Given the description of an element on the screen output the (x, y) to click on. 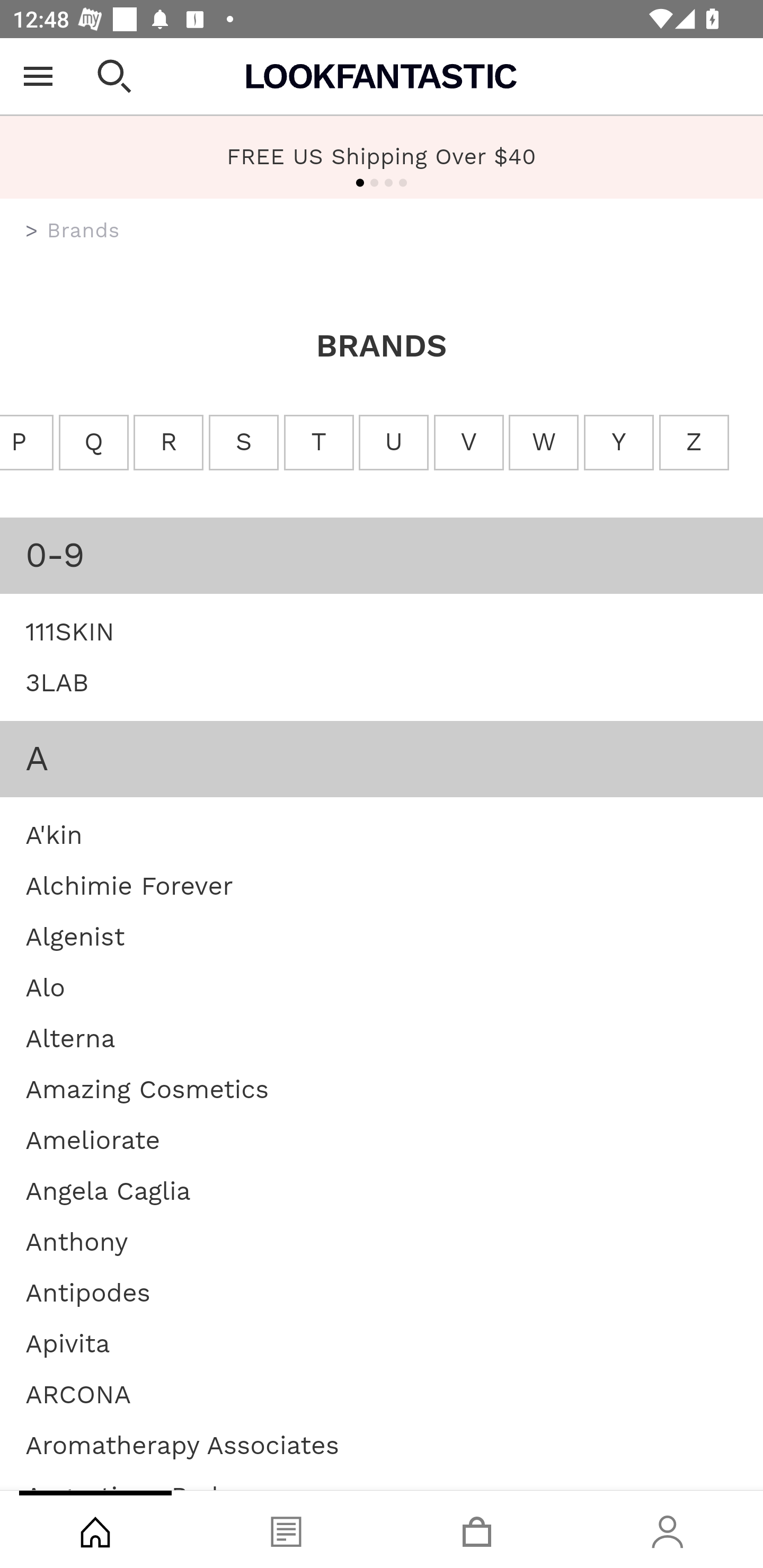
Open Menu (38, 75)
Open search (114, 75)
Lookfantastic USA (381, 75)
FREE US Shipping Over $40 (381, 157)
FREE US Shipping Over $40 (381, 155)
us.lookfantastic (32, 230)
P (27, 443)
Q (92, 443)
R (169, 443)
S (244, 443)
T (318, 443)
U (392, 443)
V (467, 443)
W (543, 443)
Y (618, 443)
Z (693, 443)
111SKIN (69, 630)
3LAB (57, 681)
A'kin (53, 833)
Alchimie Forever (129, 884)
Algenist (75, 935)
Alo (46, 986)
Alterna (70, 1037)
Amazing Cosmetics (147, 1087)
Ameliorate (92, 1139)
Angela Caglia (108, 1189)
Anthony (76, 1240)
Antipodes (88, 1291)
Apivita (68, 1342)
ARCONA (78, 1393)
Aromatherapy Associates (182, 1443)
Shop, tab, 1 of 4 (95, 1529)
Blog, tab, 2 of 4 (285, 1529)
Basket, tab, 3 of 4 (476, 1529)
Account, tab, 4 of 4 (667, 1529)
